Given the description of an element on the screen output the (x, y) to click on. 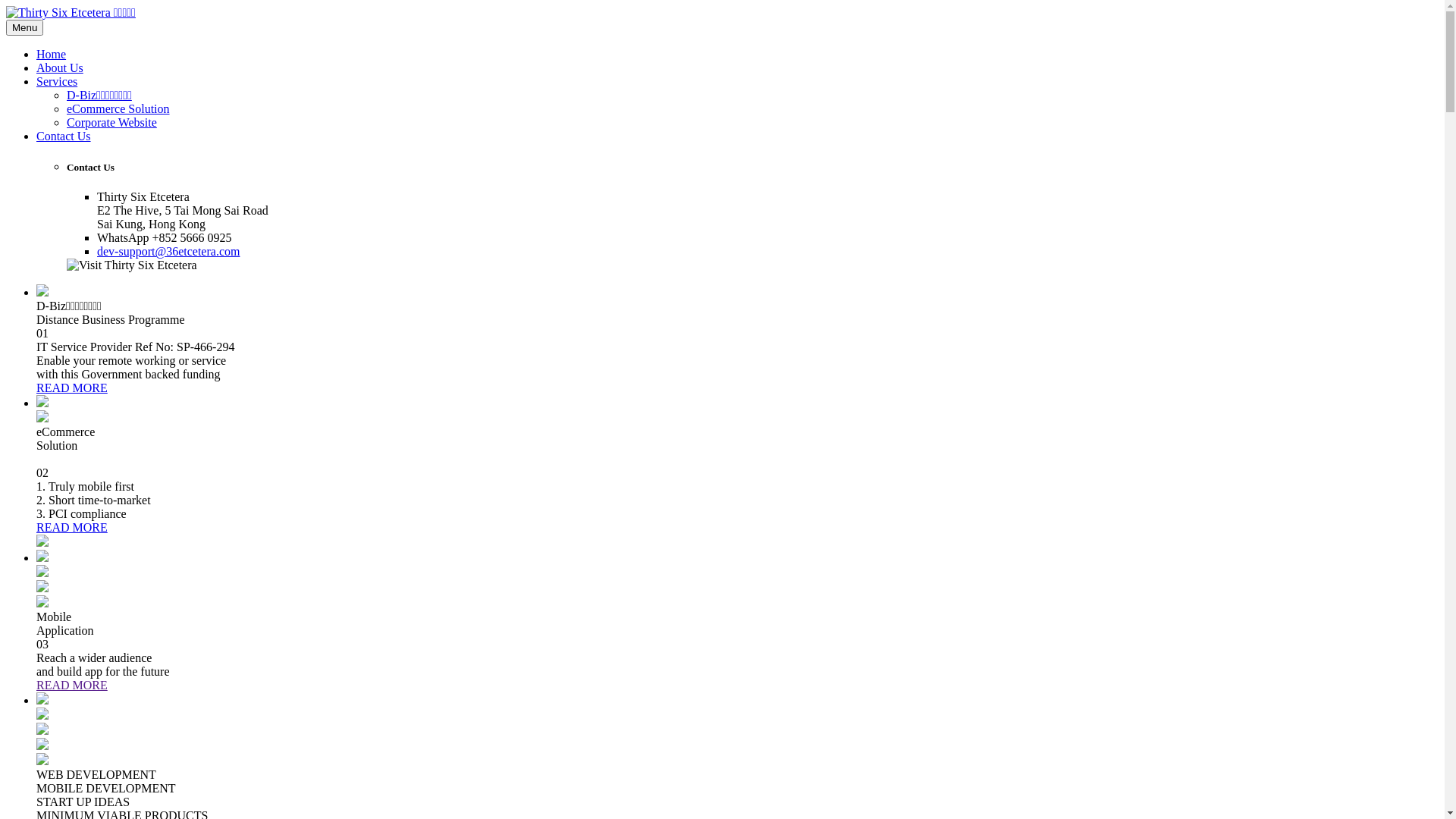
READ MORE Element type: text (71, 684)
dev-support@36etcetera.com Element type: text (168, 250)
Contact Us Element type: text (737, 136)
Corporate Website Element type: text (111, 122)
Home Element type: text (737, 54)
About Us Element type: text (737, 68)
READ MORE Element type: text (71, 526)
eCommerce Solution Element type: text (117, 108)
Services Element type: text (737, 81)
READ MORE Element type: text (71, 387)
Menu Element type: text (24, 27)
